Given the description of an element on the screen output the (x, y) to click on. 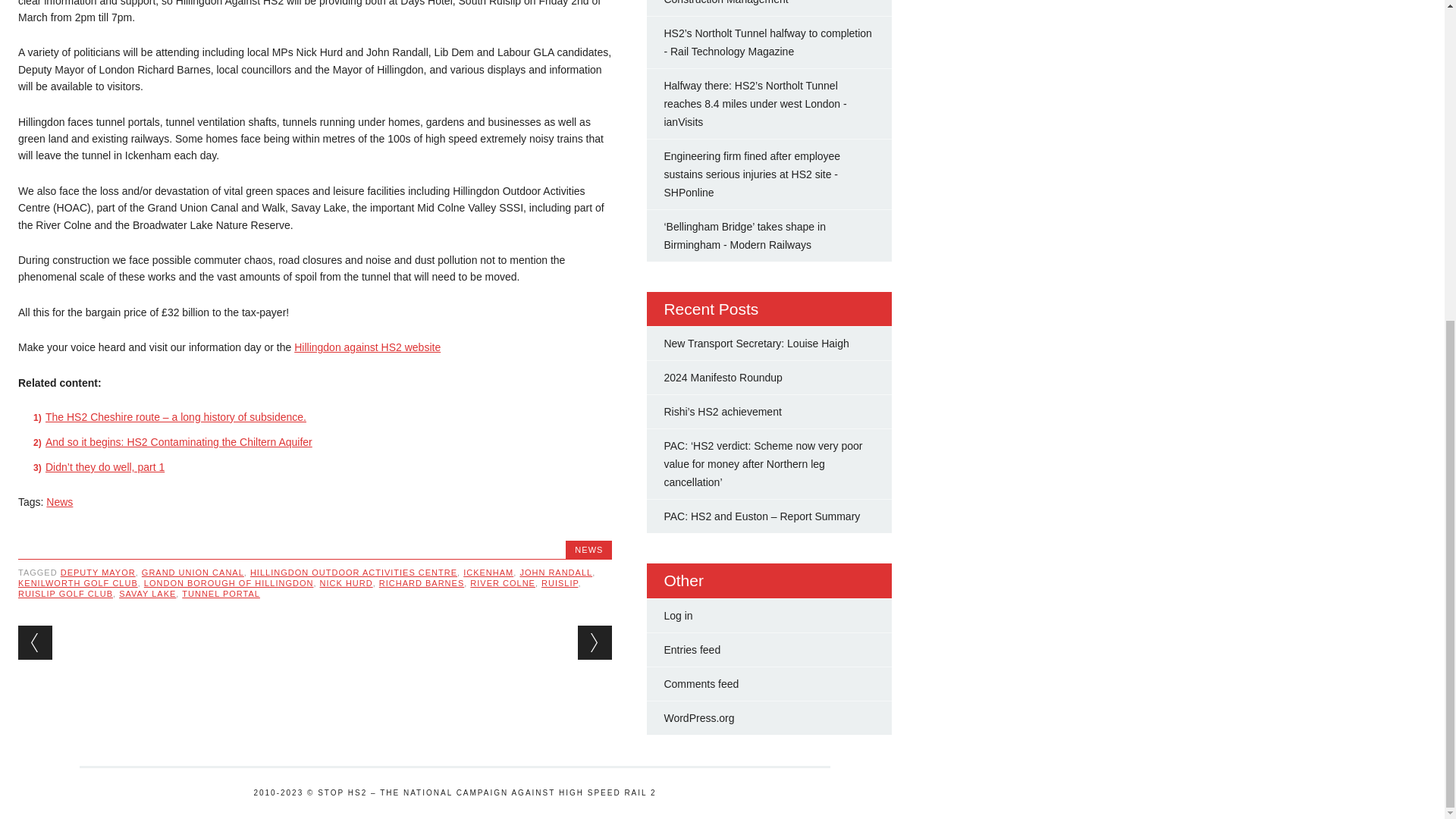
NEWS (588, 549)
Hillingdon against HS2 website (367, 346)
HILLINGDON OUTDOOR ACTIVITIES CENTRE (353, 572)
JOHN RANDALL (555, 572)
RIVER COLNE (502, 583)
RUISLIP GOLF CLUB (65, 593)
TUNNEL PORTAL (221, 593)
News (59, 501)
ICKENHAM (488, 572)
KENILWORTH GOLF CLUB (77, 583)
And so it begins: HS2 Contaminating the Chiltern Aquifer (179, 441)
NICK HURD (346, 583)
LONDON BOROUGH OF HILLINGDON (229, 583)
SAVAY LAKE (147, 593)
